Given the description of an element on the screen output the (x, y) to click on. 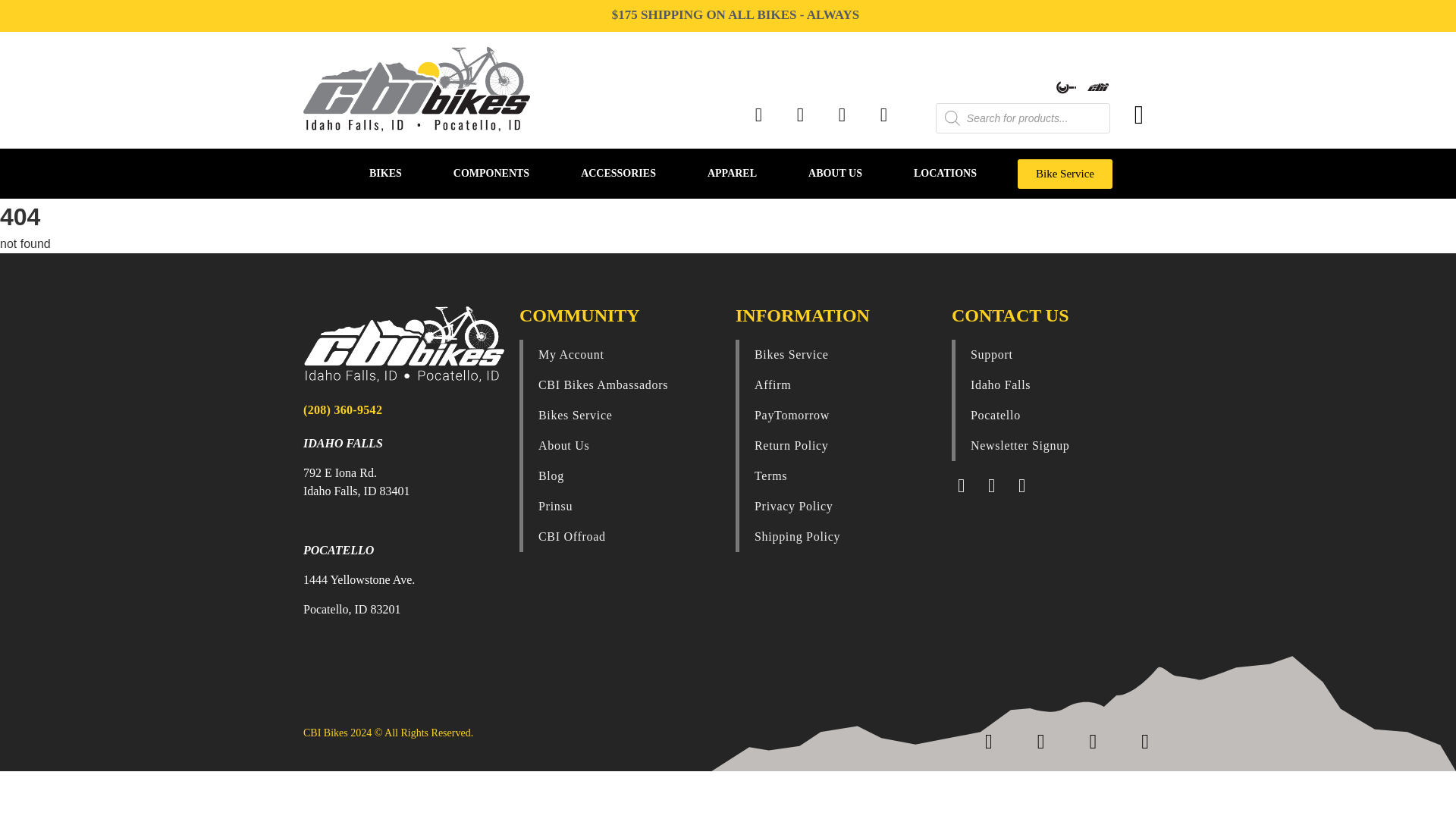
BIKES (385, 173)
ACCESSORIES (617, 173)
COMPONENTS (491, 173)
